Given the description of an element on the screen output the (x, y) to click on. 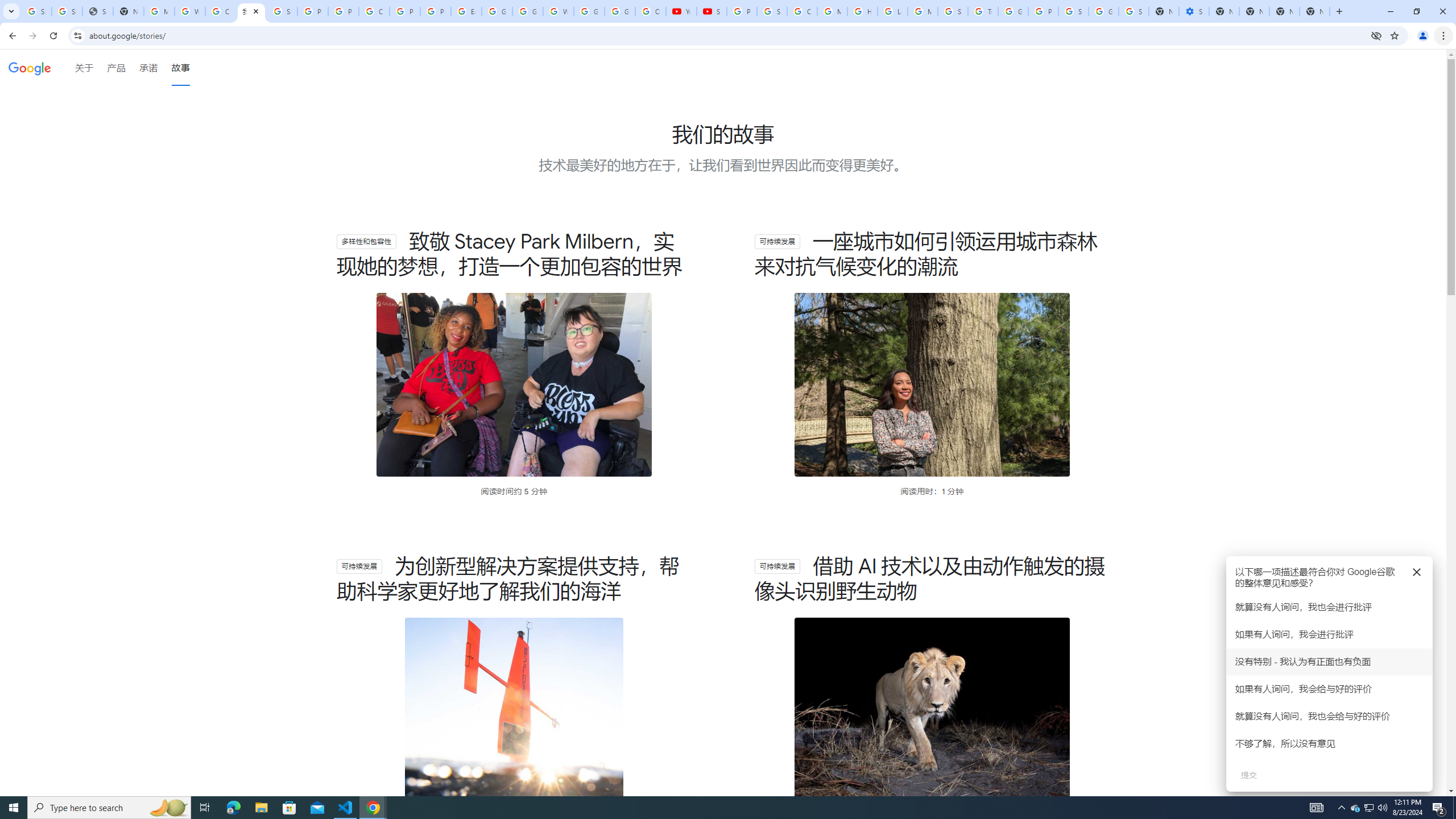
Create your Google Account (220, 11)
Subscriptions - YouTube (711, 11)
Sign in - Google Accounts (1133, 11)
Trusted Information and Content - Google Safety Center (982, 11)
